Given the description of an element on the screen output the (x, y) to click on. 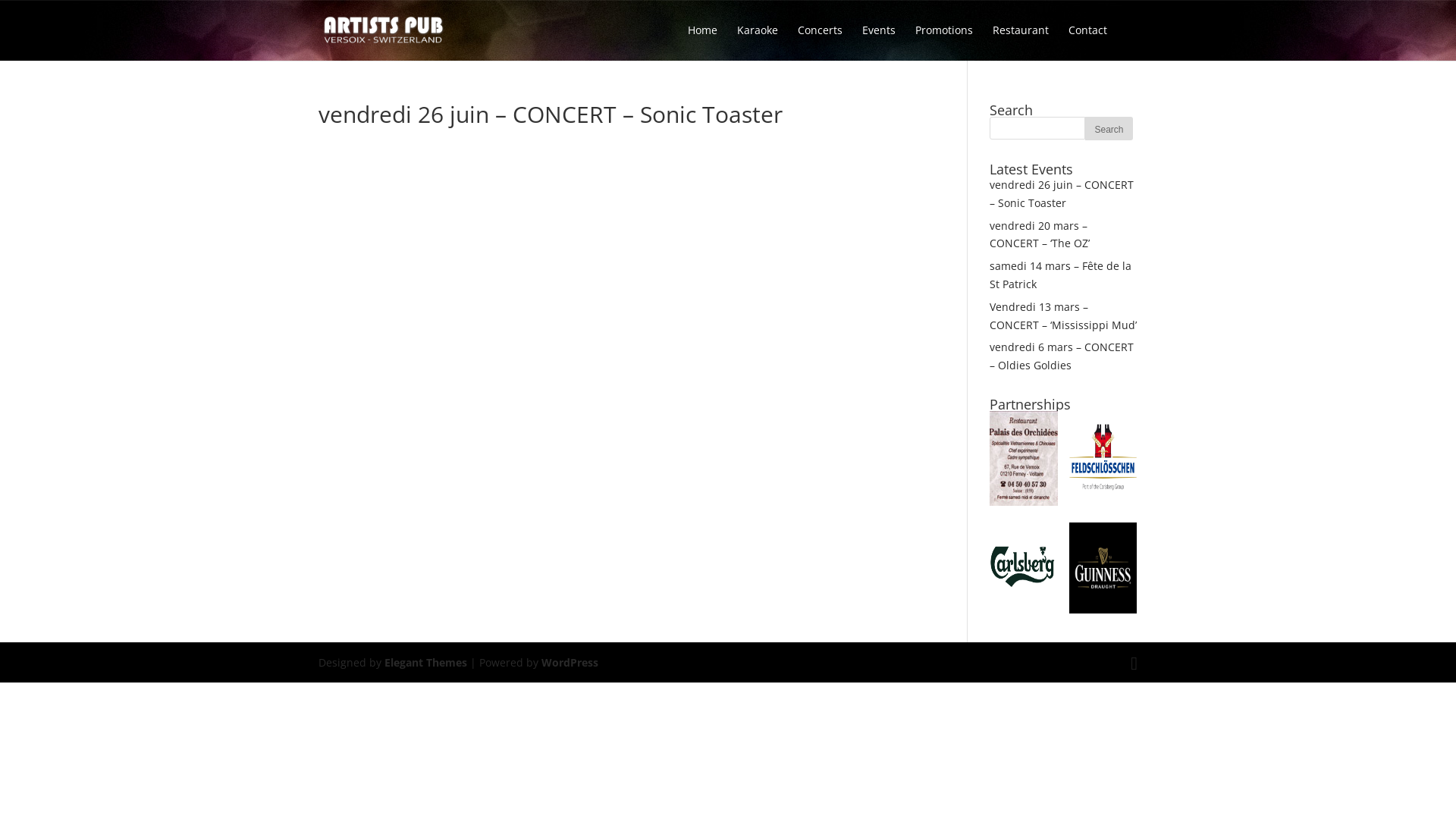
Elegant Themes Element type: text (425, 662)
Home Element type: text (702, 40)
WordPress Element type: text (569, 662)
Concerts Element type: text (819, 40)
Events Element type: text (878, 40)
Restaurant Element type: text (1020, 40)
Promotions Element type: text (943, 40)
Contact Element type: text (1087, 40)
Karaoke Element type: text (757, 40)
Search Element type: text (1108, 128)
